Given the description of an element on the screen output the (x, y) to click on. 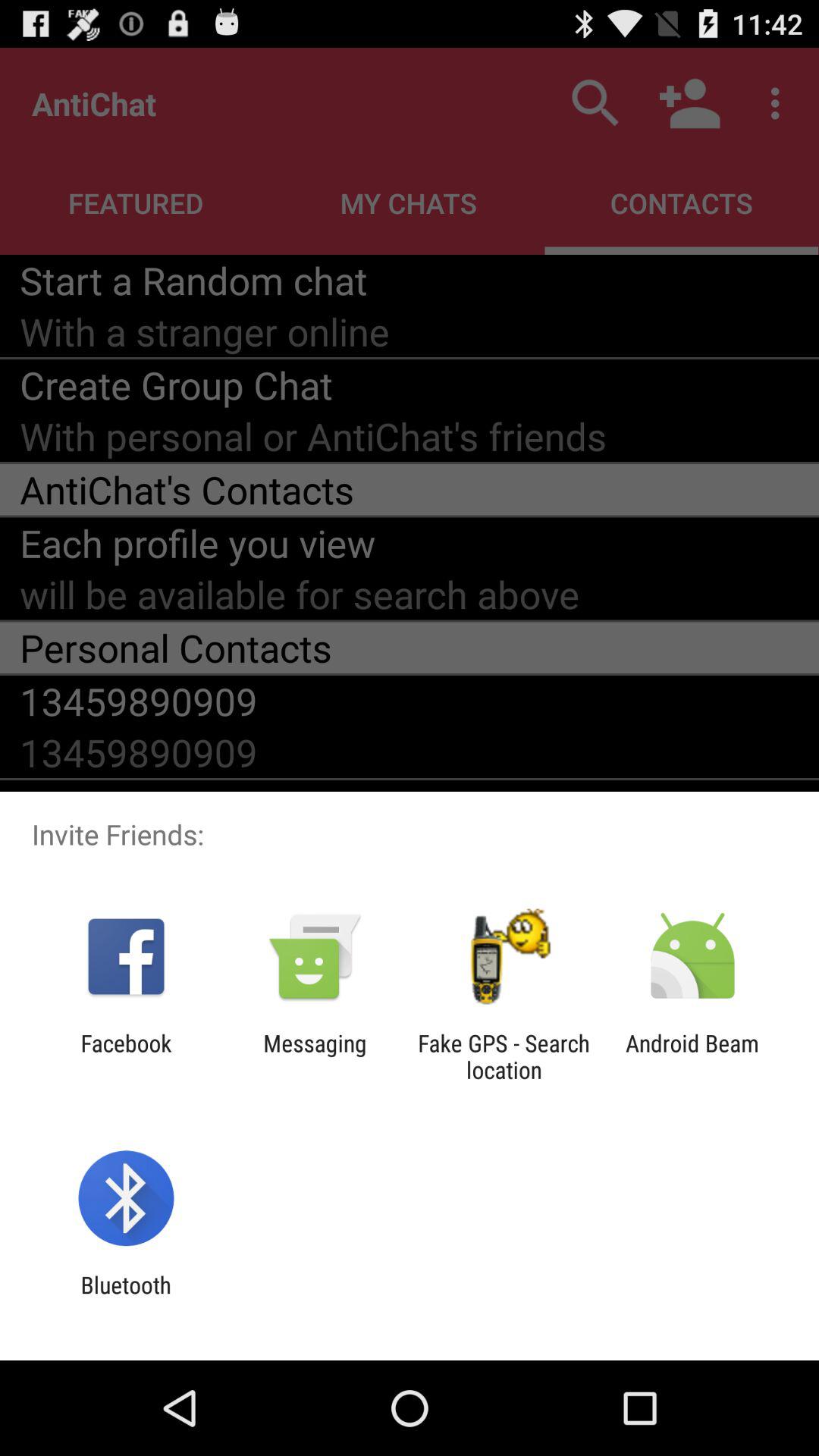
tap app next to fake gps search item (692, 1056)
